Given the description of an element on the screen output the (x, y) to click on. 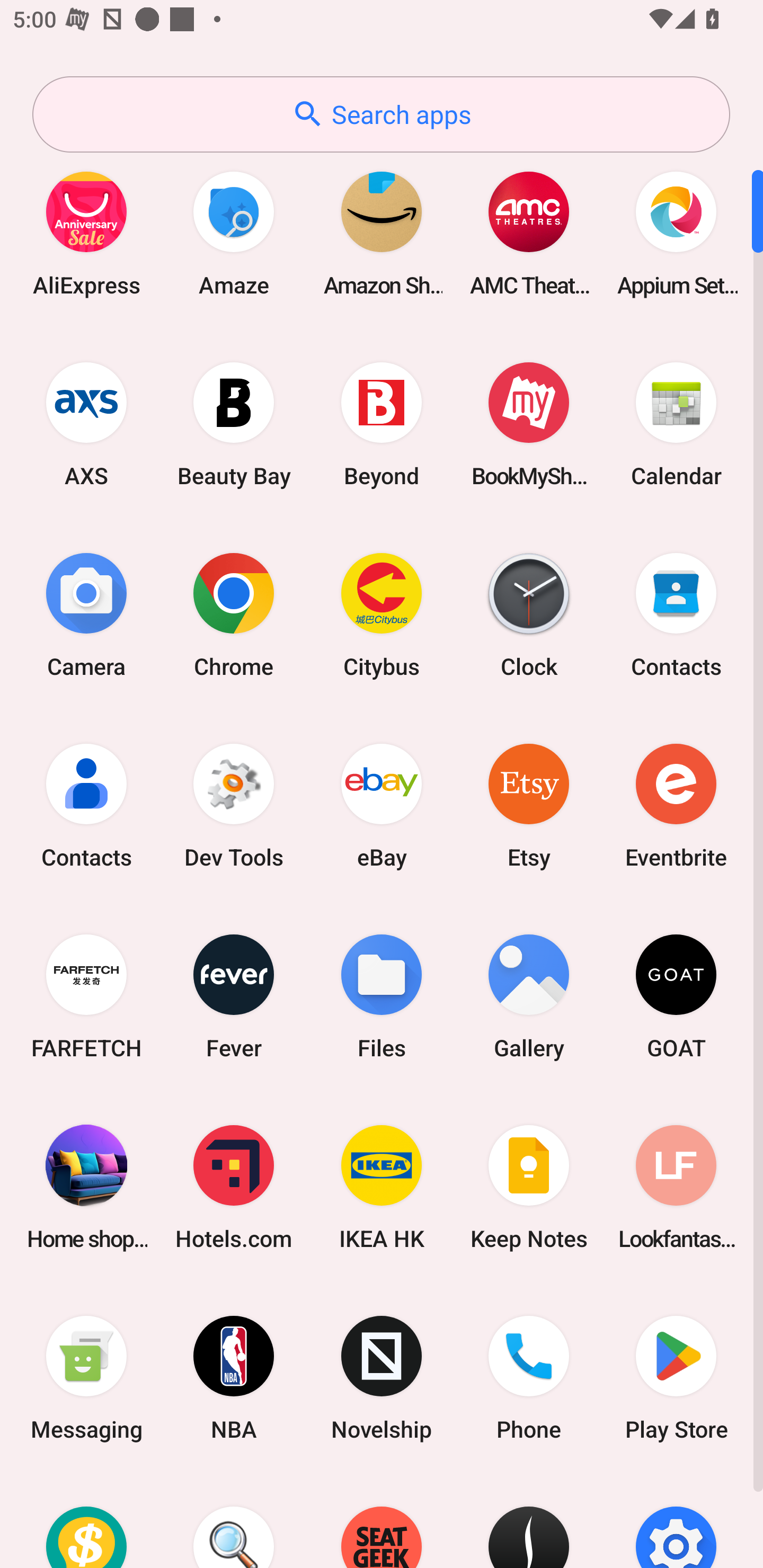
  Search apps (381, 114)
AliExpress (86, 233)
Amaze (233, 233)
Amazon Shopping (381, 233)
AMC Theatres (528, 233)
Appium Settings (676, 233)
AXS (86, 424)
Beauty Bay (233, 424)
Beyond (381, 424)
BookMyShow (528, 424)
Calendar (676, 424)
Camera (86, 614)
Chrome (233, 614)
Citybus (381, 614)
Clock (528, 614)
Contacts (676, 614)
Contacts (86, 805)
Dev Tools (233, 805)
eBay (381, 805)
Etsy (528, 805)
Eventbrite (676, 805)
FARFETCH (86, 996)
Fever (233, 996)
Files (381, 996)
Gallery (528, 996)
GOAT (676, 996)
Home shopping (86, 1186)
Hotels.com (233, 1186)
IKEA HK (381, 1186)
Keep Notes (528, 1186)
Lookfantastic (676, 1186)
Messaging (86, 1377)
NBA (233, 1377)
Novelship (381, 1377)
Phone (528, 1377)
Play Store (676, 1377)
Price (86, 1520)
Search (233, 1520)
SeatGeek (381, 1520)
Sephora (528, 1520)
Settings (676, 1520)
